Given the description of an element on the screen output the (x, y) to click on. 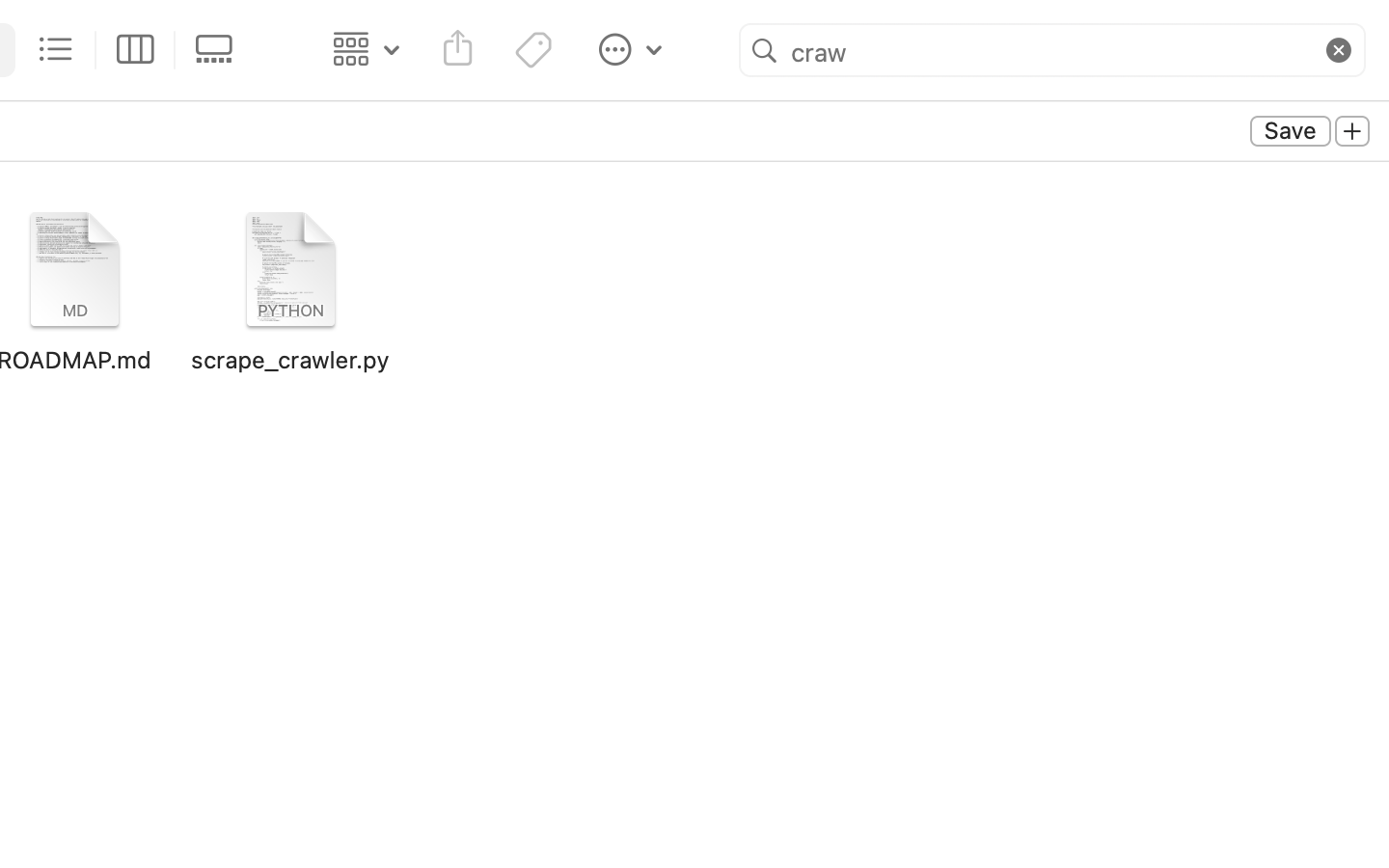
0 Element type: AXCheckBox (1351, 131)
0 Element type: AXRadioButton (219, 49)
craw Element type: AXTextField (1051, 51)
